Given the description of an element on the screen output the (x, y) to click on. 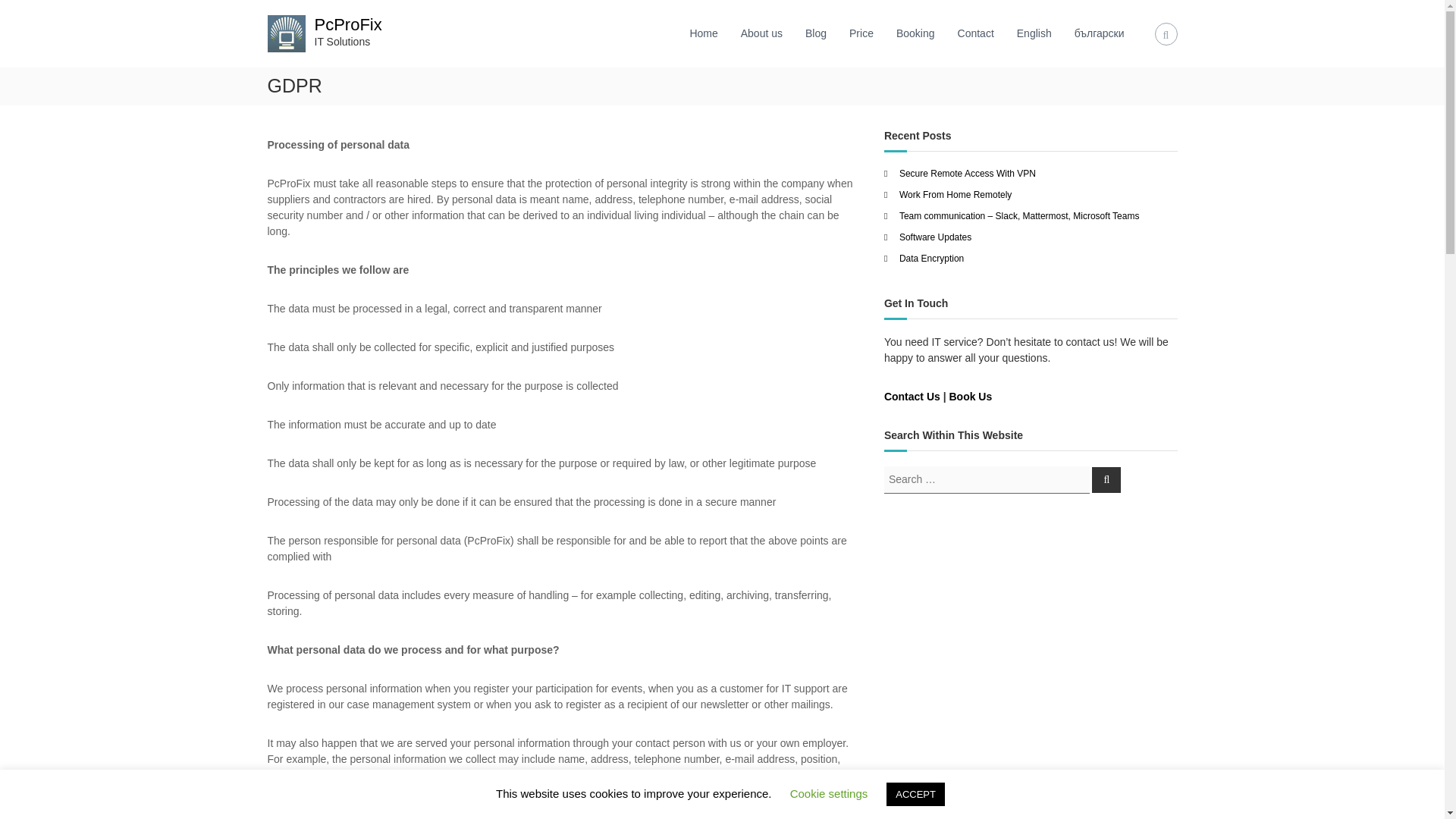
Search (1106, 479)
Book Us (970, 395)
Cookie settings (828, 793)
Booking (915, 33)
ACCEPT (915, 793)
Contact Us (911, 395)
Home (702, 33)
About us (762, 33)
Price (860, 33)
Secure Remote Access With VPN (967, 173)
English (1033, 33)
PcProFix (347, 24)
Contact (976, 33)
Software Updates (935, 236)
Work From Home Remotely (955, 194)
